Given the description of an element on the screen output the (x, y) to click on. 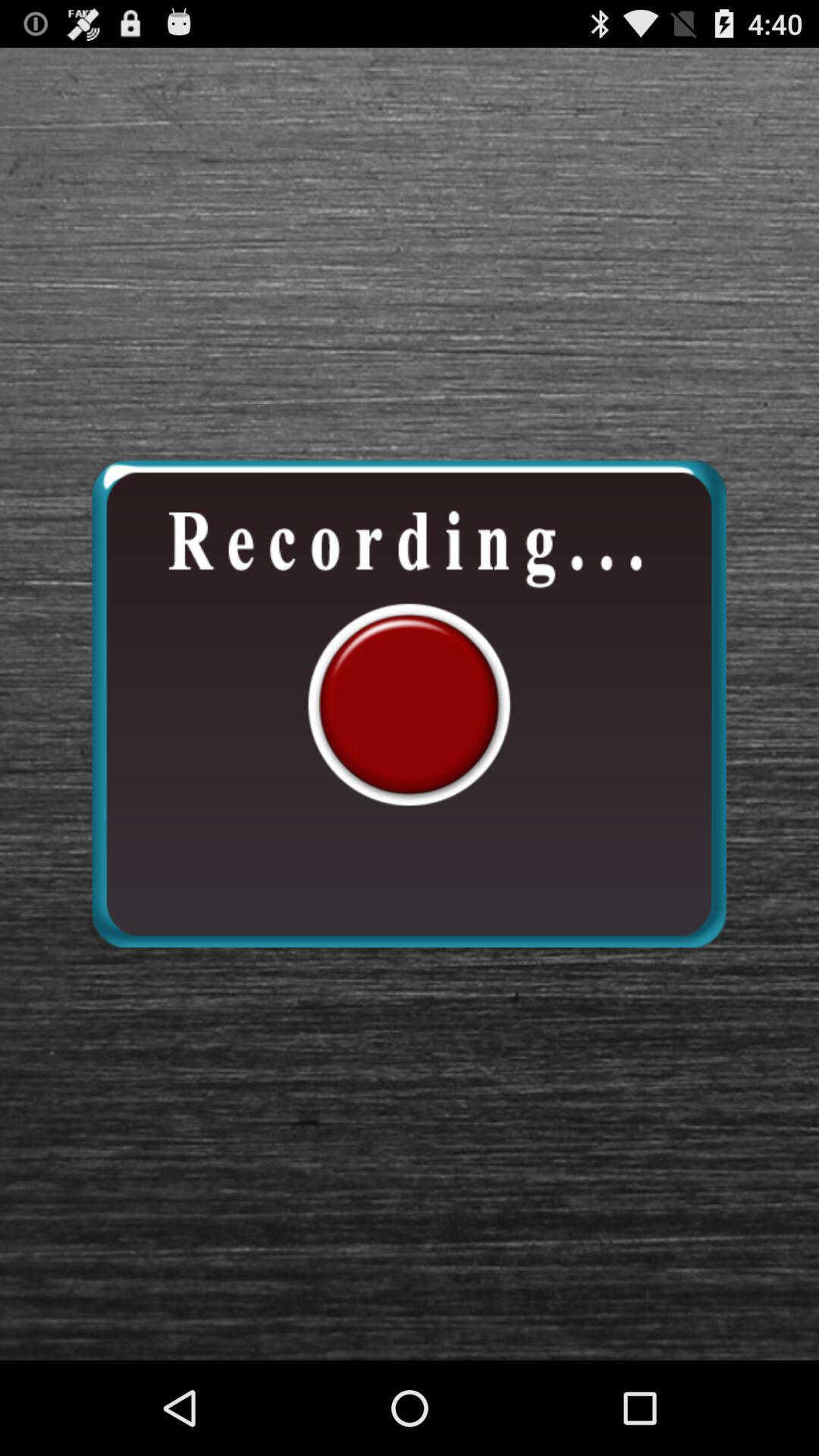
stop recording (409, 703)
